Given the description of an element on the screen output the (x, y) to click on. 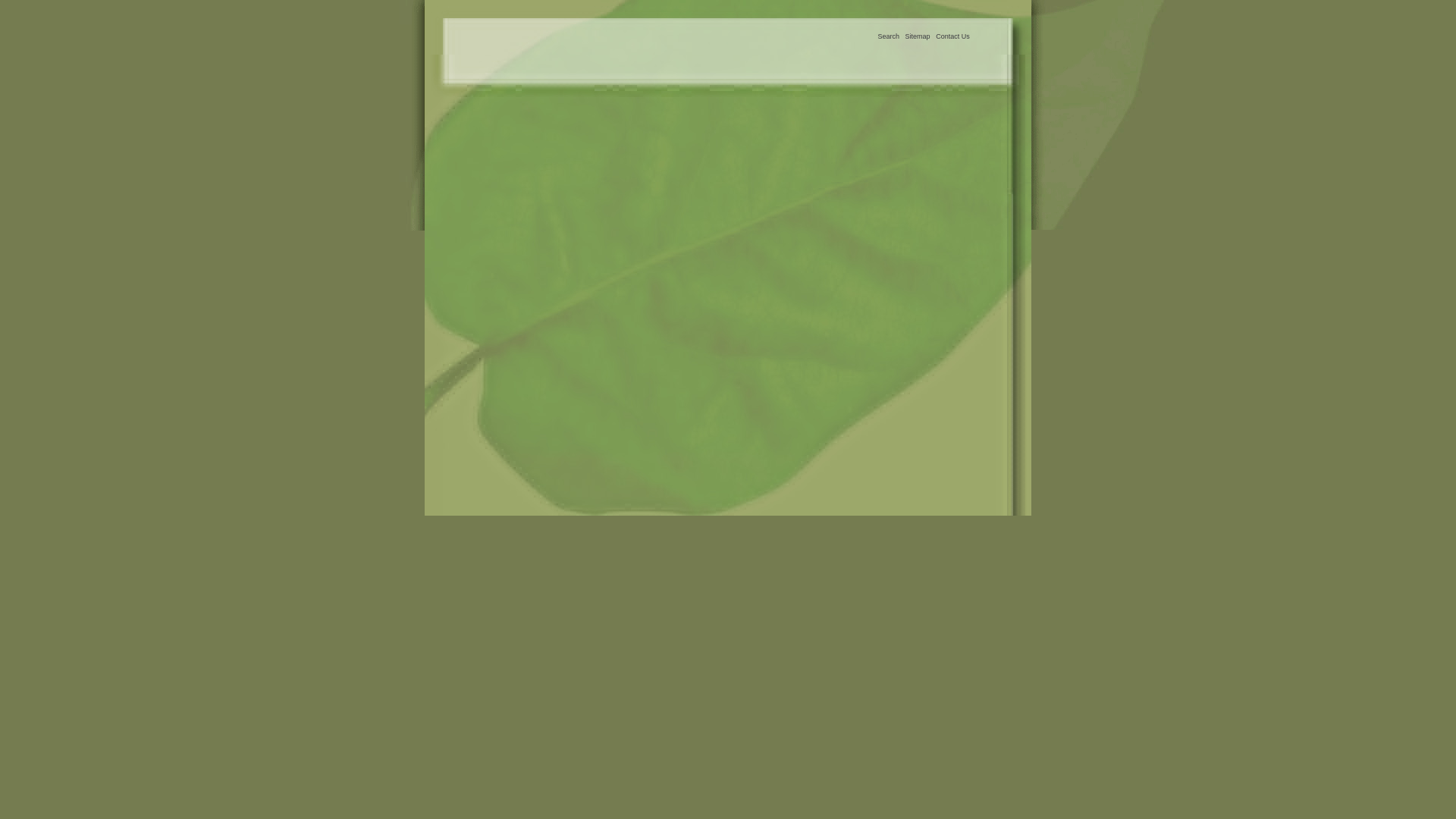
Contact Us (952, 36)
Sitemap (917, 36)
Search (888, 36)
